Given the description of an element on the screen output the (x, y) to click on. 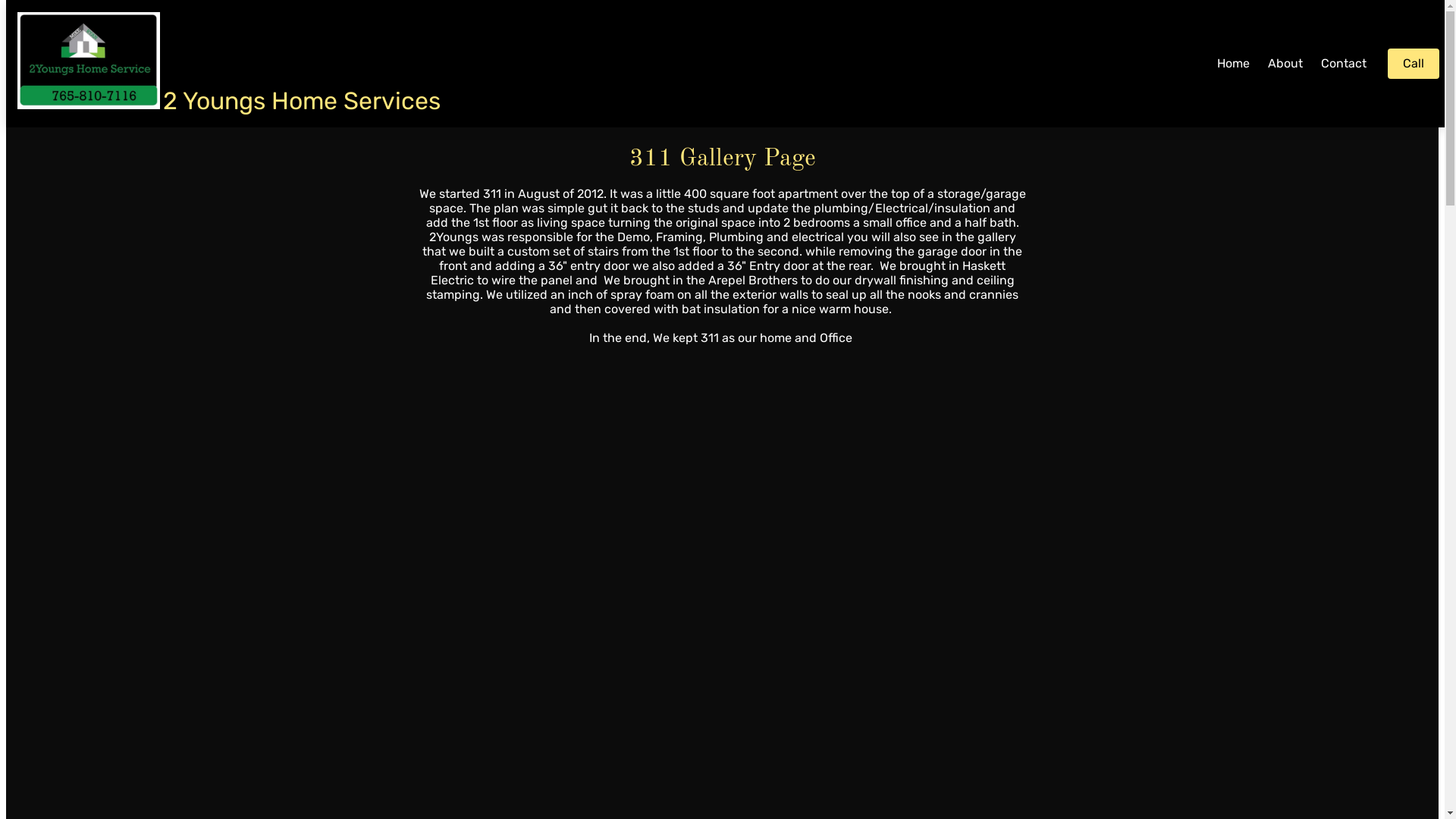
About Element type: text (1284, 63)
Call Element type: text (1413, 63)
Contact Element type: text (1343, 63)
Home Element type: text (1233, 63)
2 Youngs Home Services Element type: text (313, 100)
